Given the description of an element on the screen output the (x, y) to click on. 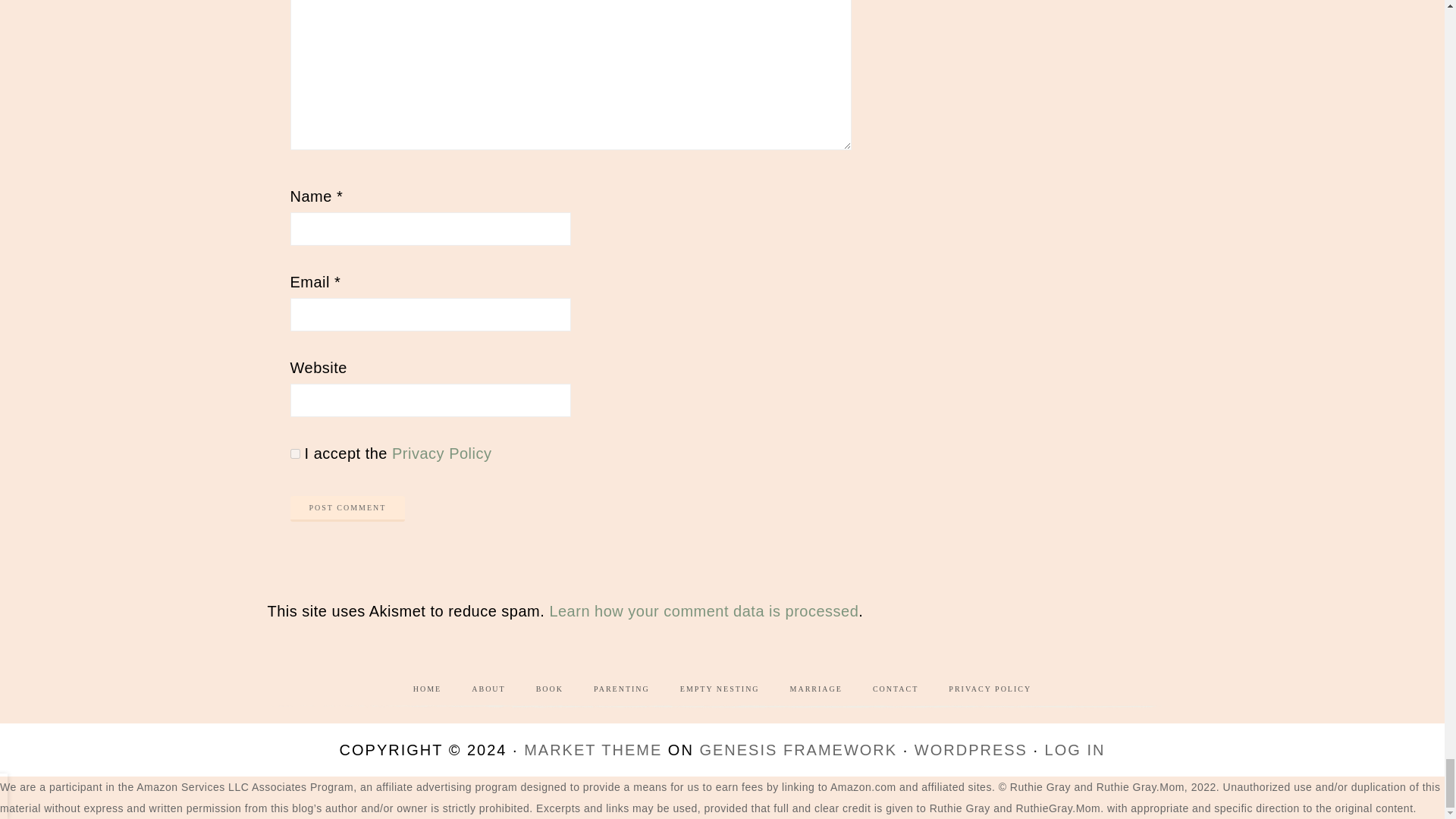
1 (294, 453)
Post Comment (346, 508)
